Given the description of an element on the screen output the (x, y) to click on. 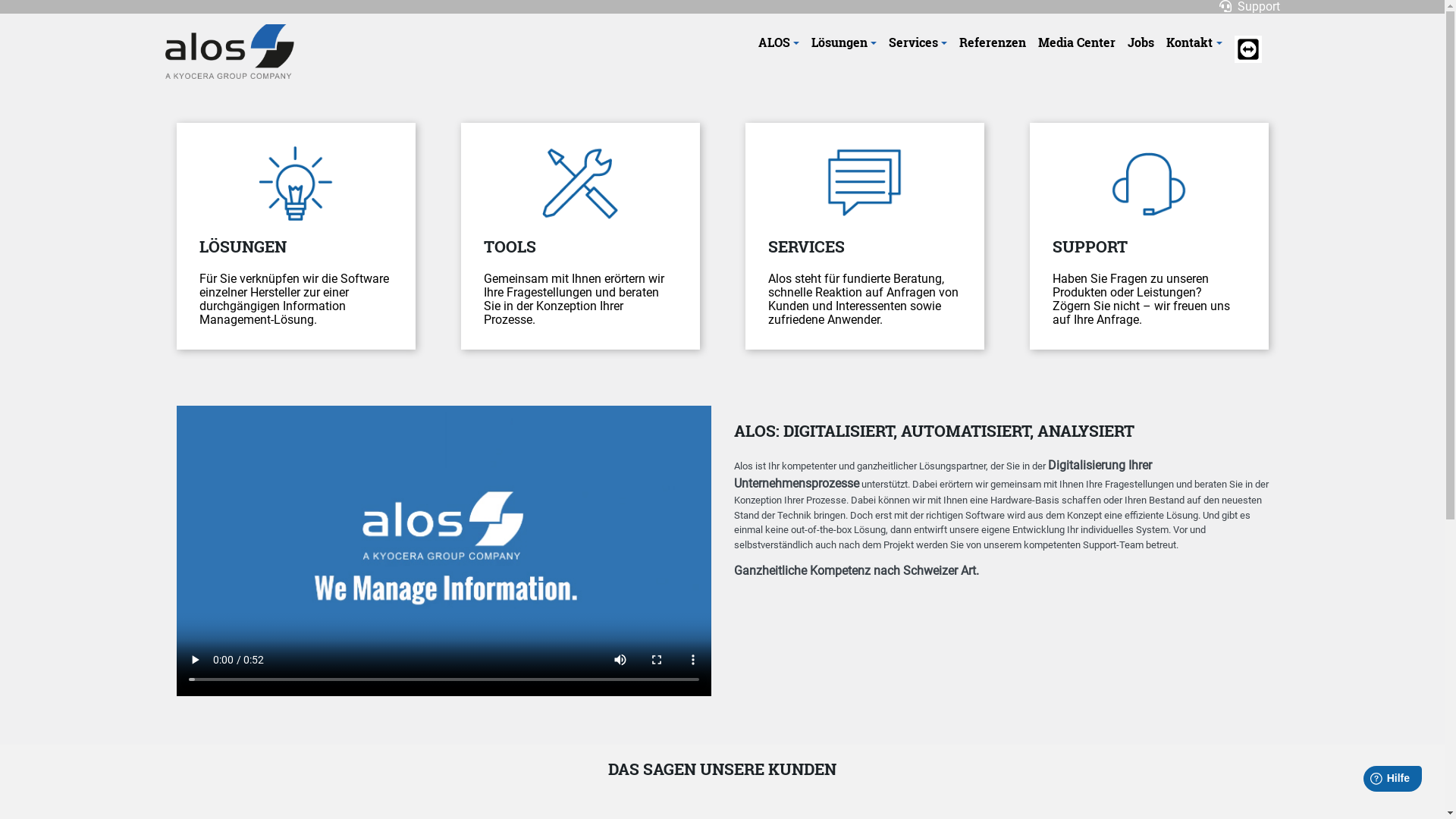
Referenzen Element type: text (992, 42)
Services Element type: text (917, 42)
Jobs Element type: text (1140, 42)
Direkt zu Teamviewer Element type: hover (1247, 49)
Kontakt Element type: text (1193, 42)
Media Center Element type: text (1076, 42)
ALOS Element type: text (778, 42)
